Given the description of an element on the screen output the (x, y) to click on. 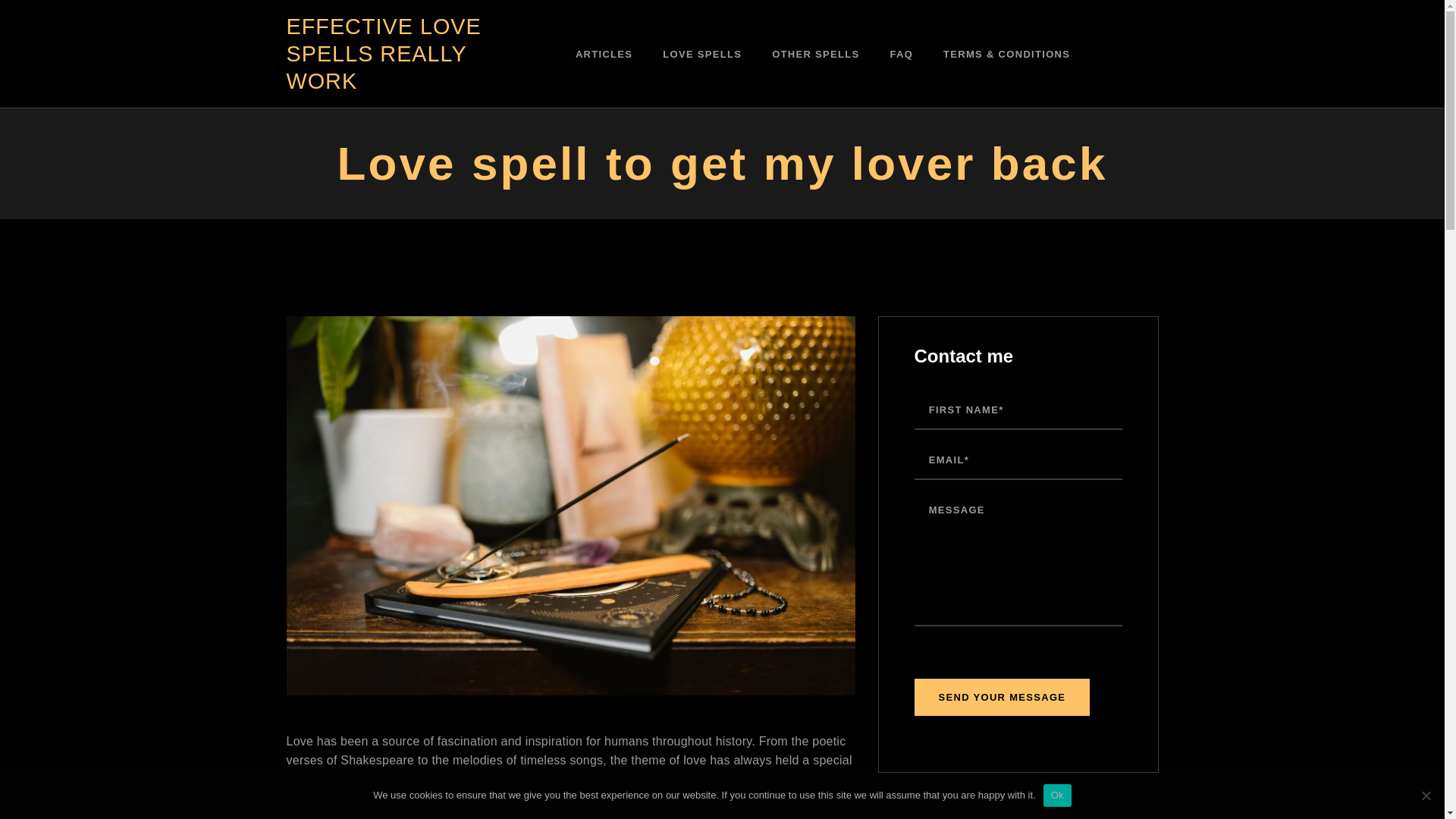
FAQ (901, 54)
Send Your Message (1002, 696)
No (1425, 795)
OTHER SPELLS (816, 54)
EFFECTIVE LOVE SPELLS REALLY WORK (391, 54)
Send Your Message (1002, 696)
LOVE SPELLS (702, 54)
ARTICLES (603, 54)
Ok (1057, 794)
